Given the description of an element on the screen output the (x, y) to click on. 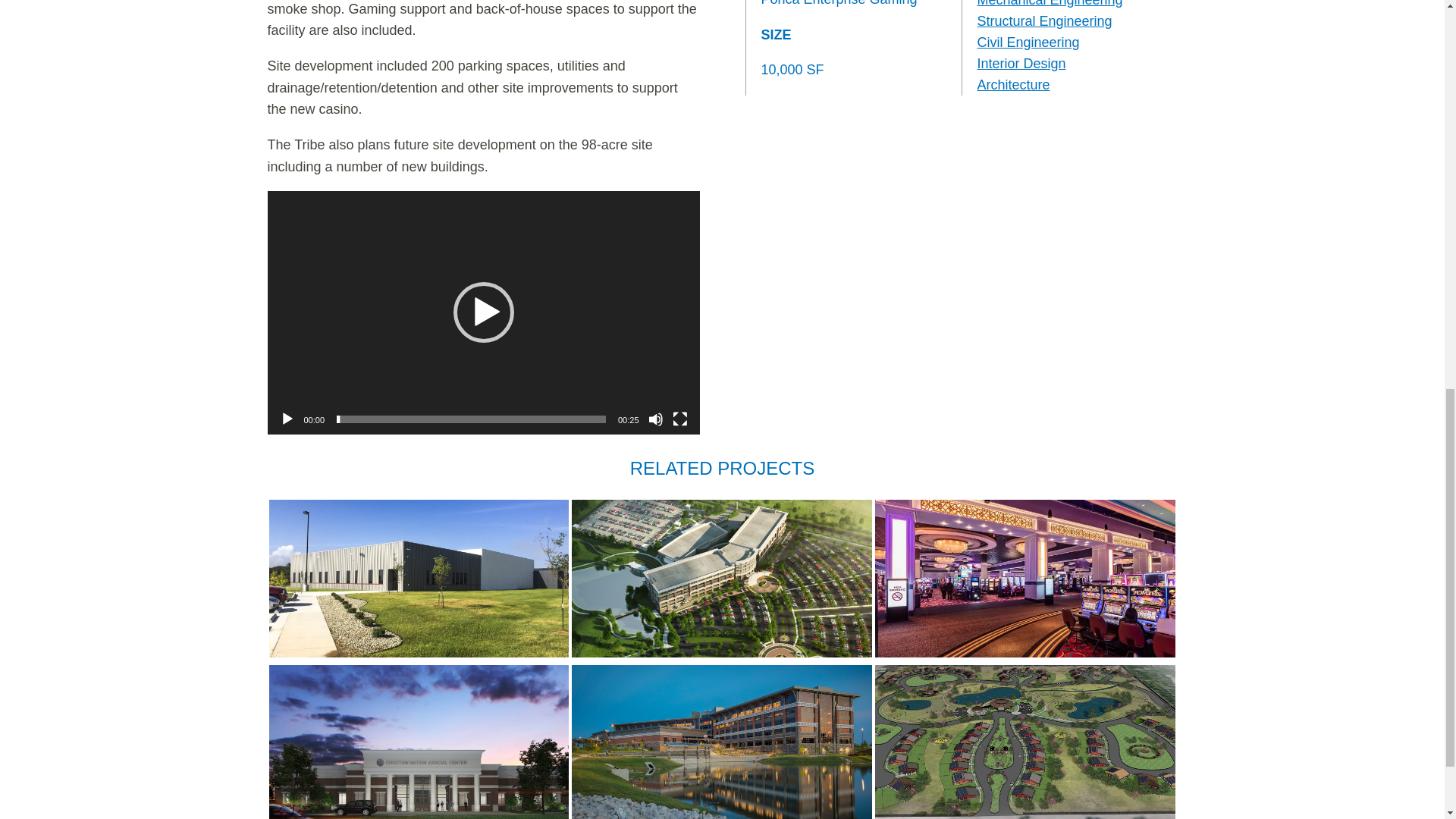
Choctaw Nation Headquarters Building (722, 742)
Fullscreen (679, 418)
Choctaw Nation Judicial Center (418, 742)
Choctaw Nation Headquarters Master Plan (722, 578)
WinStar Global Event Center (1024, 578)
Mute (654, 418)
Play (286, 418)
Chickasaw Nation WinStar Data Center (418, 578)
